Given the description of an element on the screen output the (x, y) to click on. 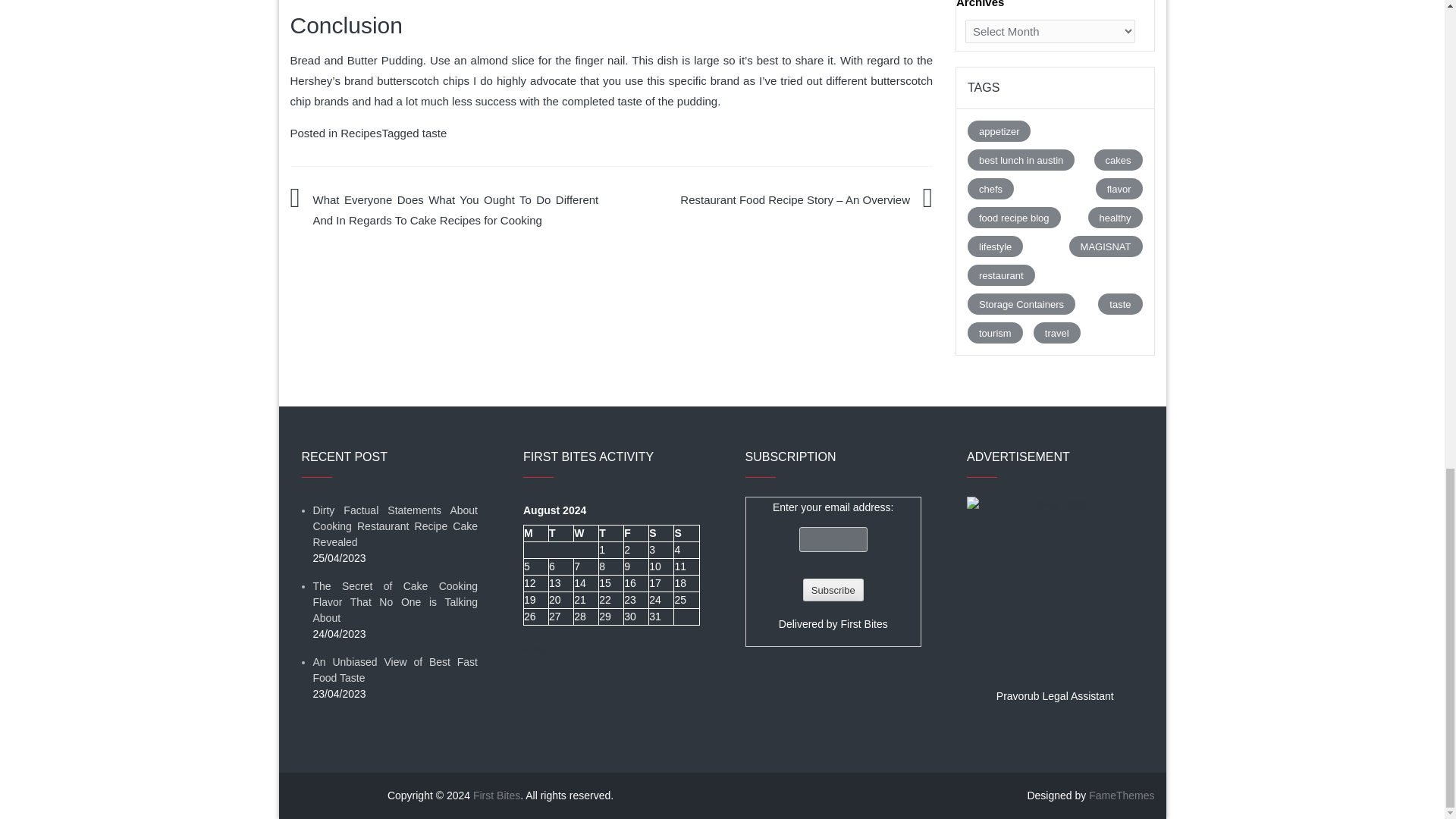
Recipes (360, 132)
taste (434, 132)
Subscribe (833, 589)
